Given the description of an element on the screen output the (x, y) to click on. 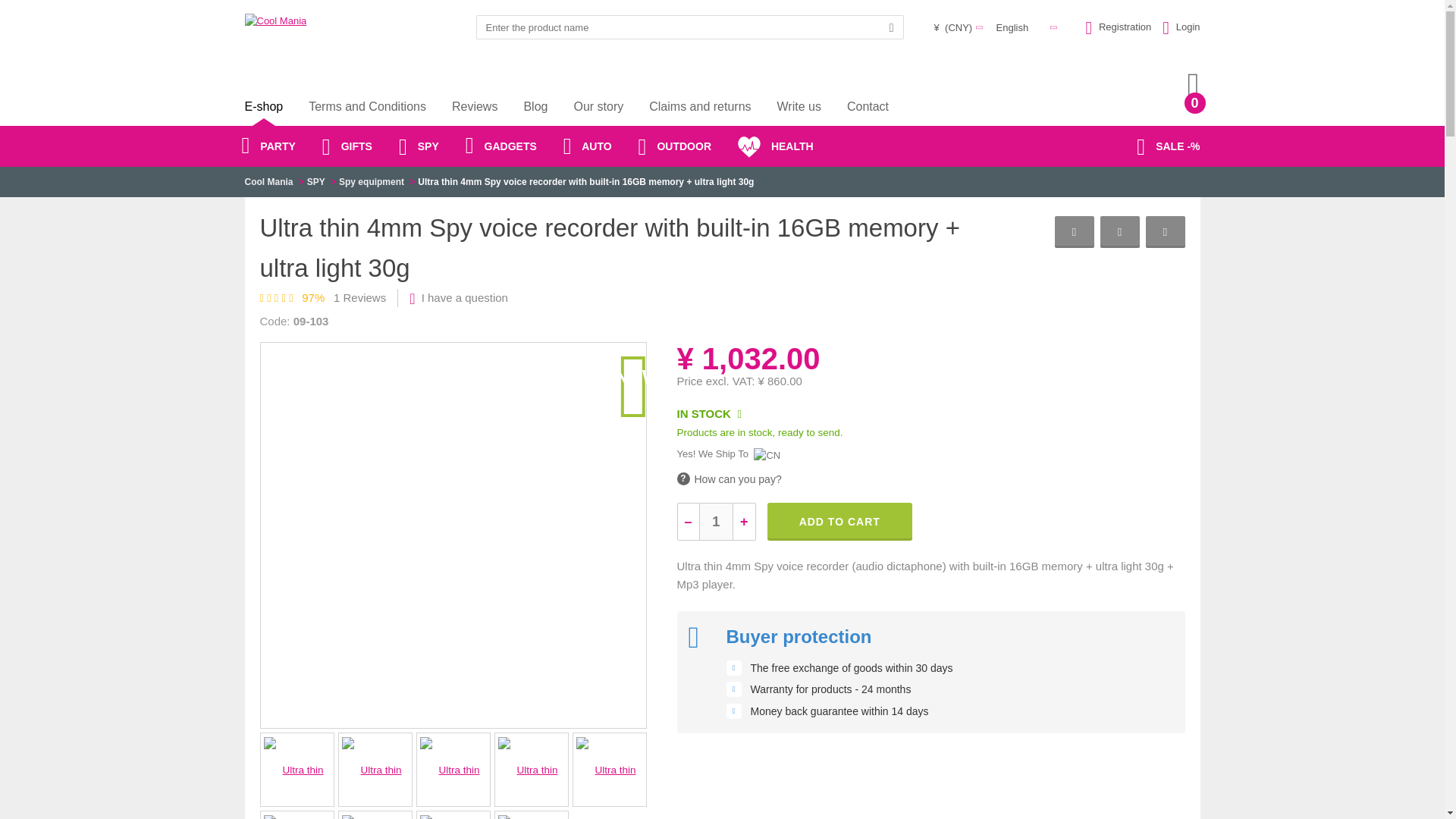
Add to cart (839, 521)
Add to cart (839, 521)
Cool Mania (268, 181)
I have a question (465, 297)
How can you pay? (728, 478)
SPY (315, 181)
Spy equipment (371, 181)
